Given the description of an element on the screen output the (x, y) to click on. 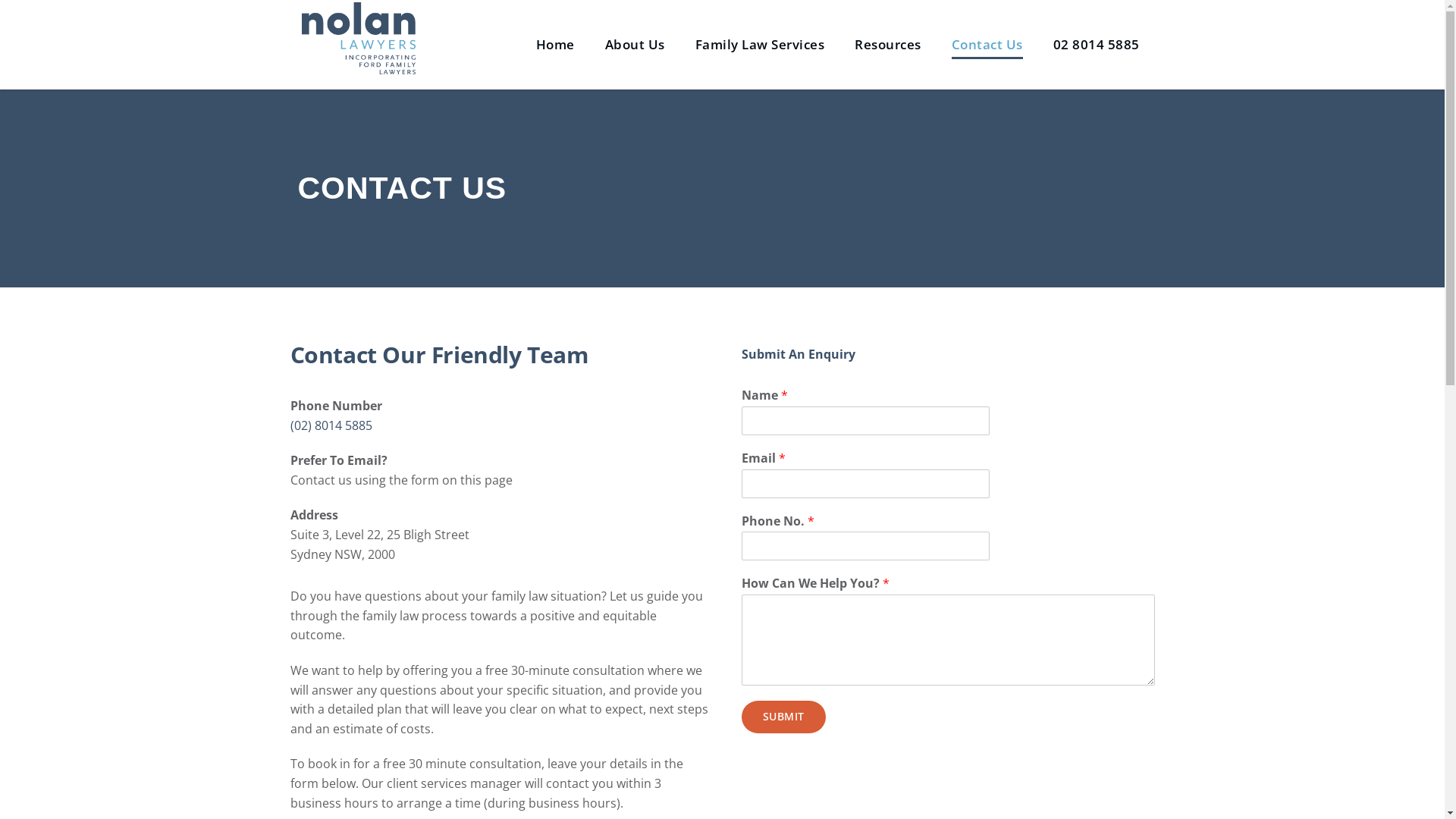
(02) 8014 5885 Element type: text (330, 425)
02 8014 5885 Element type: text (1095, 44)
Resources Element type: text (887, 44)
Nolan Lawyers incorporating Ford Family Lawyers Element type: hover (358, 36)
Home Element type: text (554, 44)
SUBMIT Element type: text (783, 716)
Contact Us Element type: text (986, 44)
About Us Element type: text (634, 44)
Family Law Services Element type: text (759, 44)
